Given the description of an element on the screen output the (x, y) to click on. 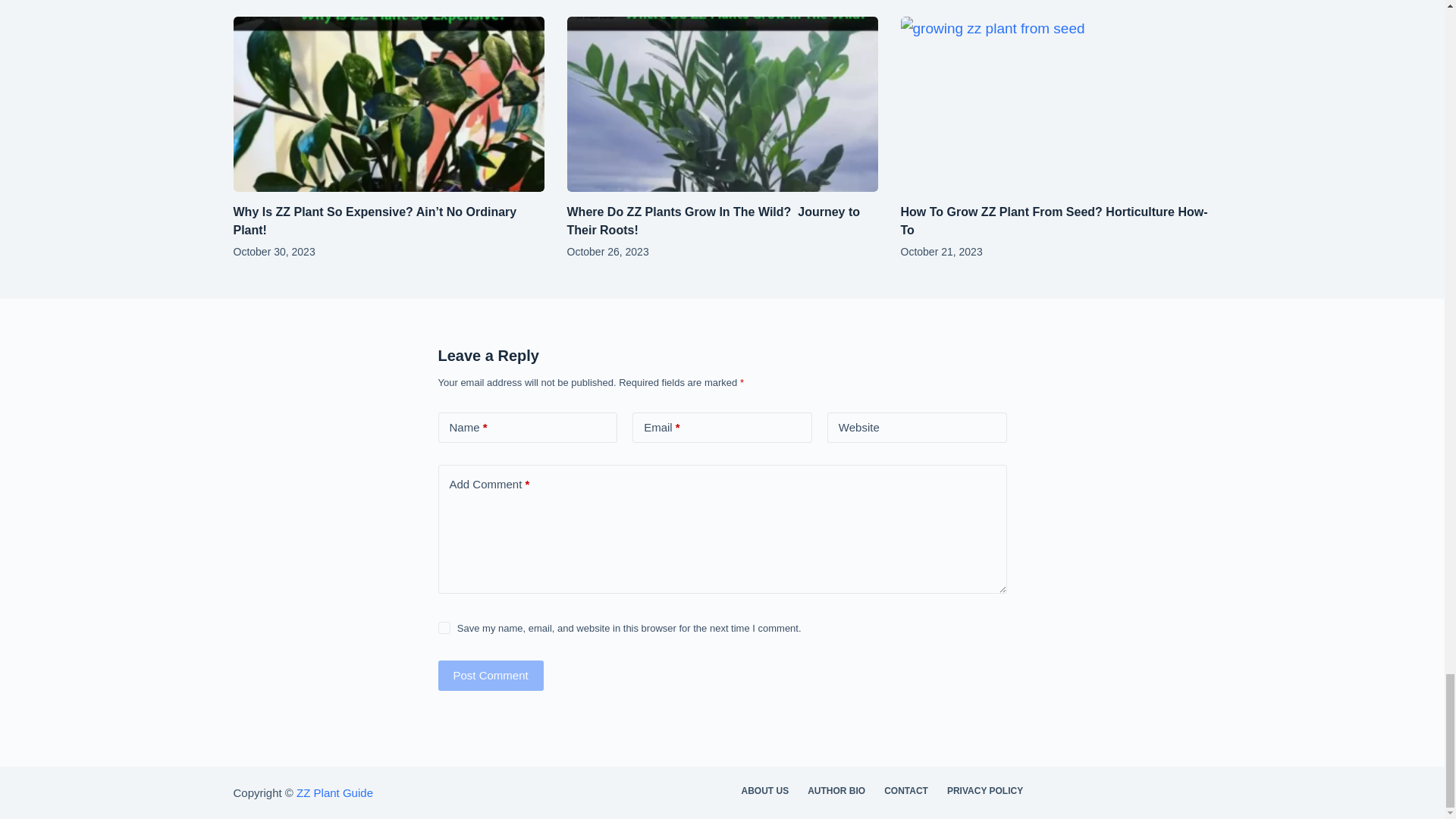
ABOUT US (764, 791)
Post Comment (490, 675)
ZZ Plant Guide (334, 792)
yes (443, 627)
How To Grow ZZ Plant From Seed? Horticulture How-To (1054, 220)
